Given the description of an element on the screen output the (x, y) to click on. 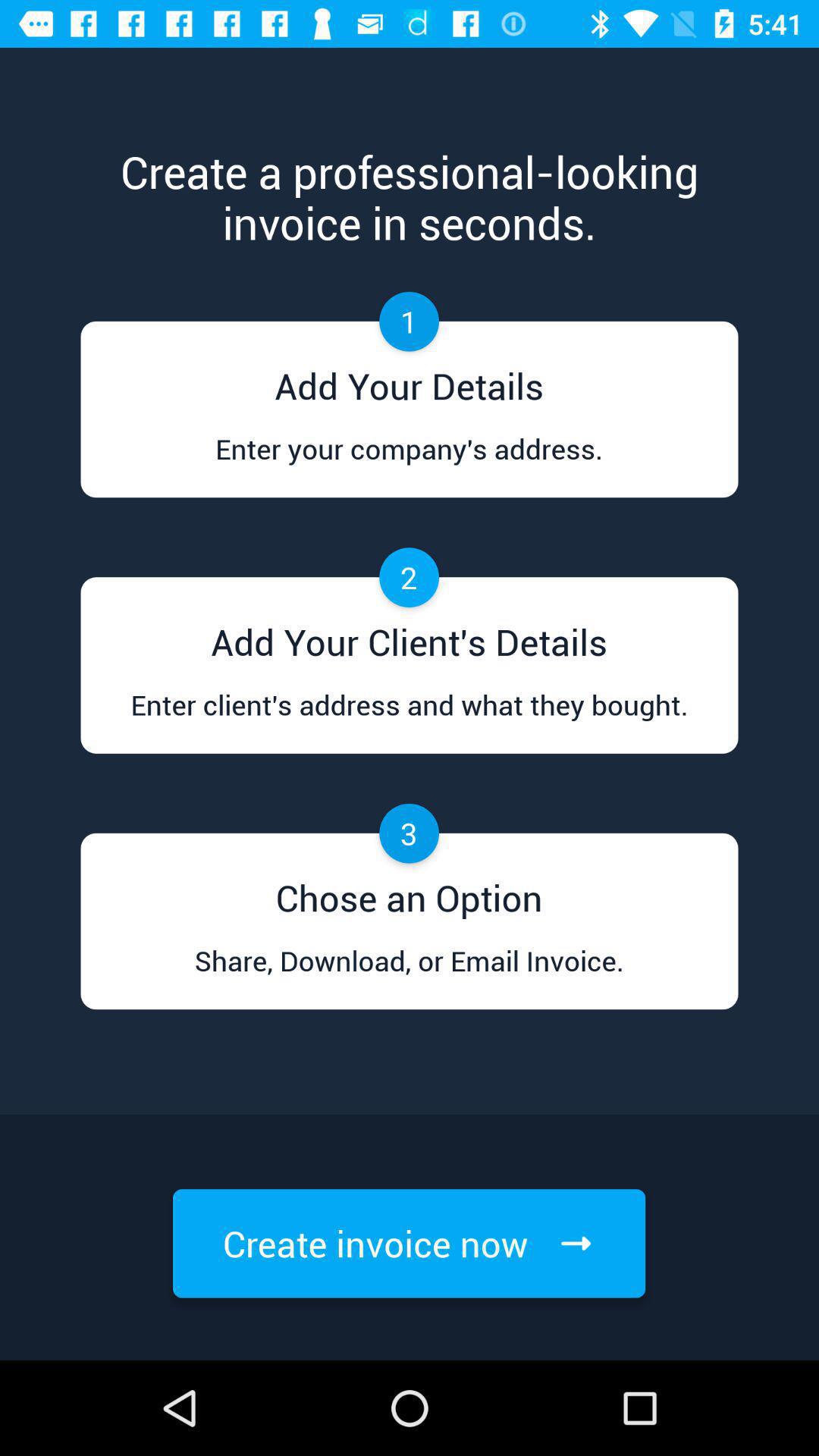
choose item below the enter client s icon (408, 892)
